Given the description of an element on the screen output the (x, y) to click on. 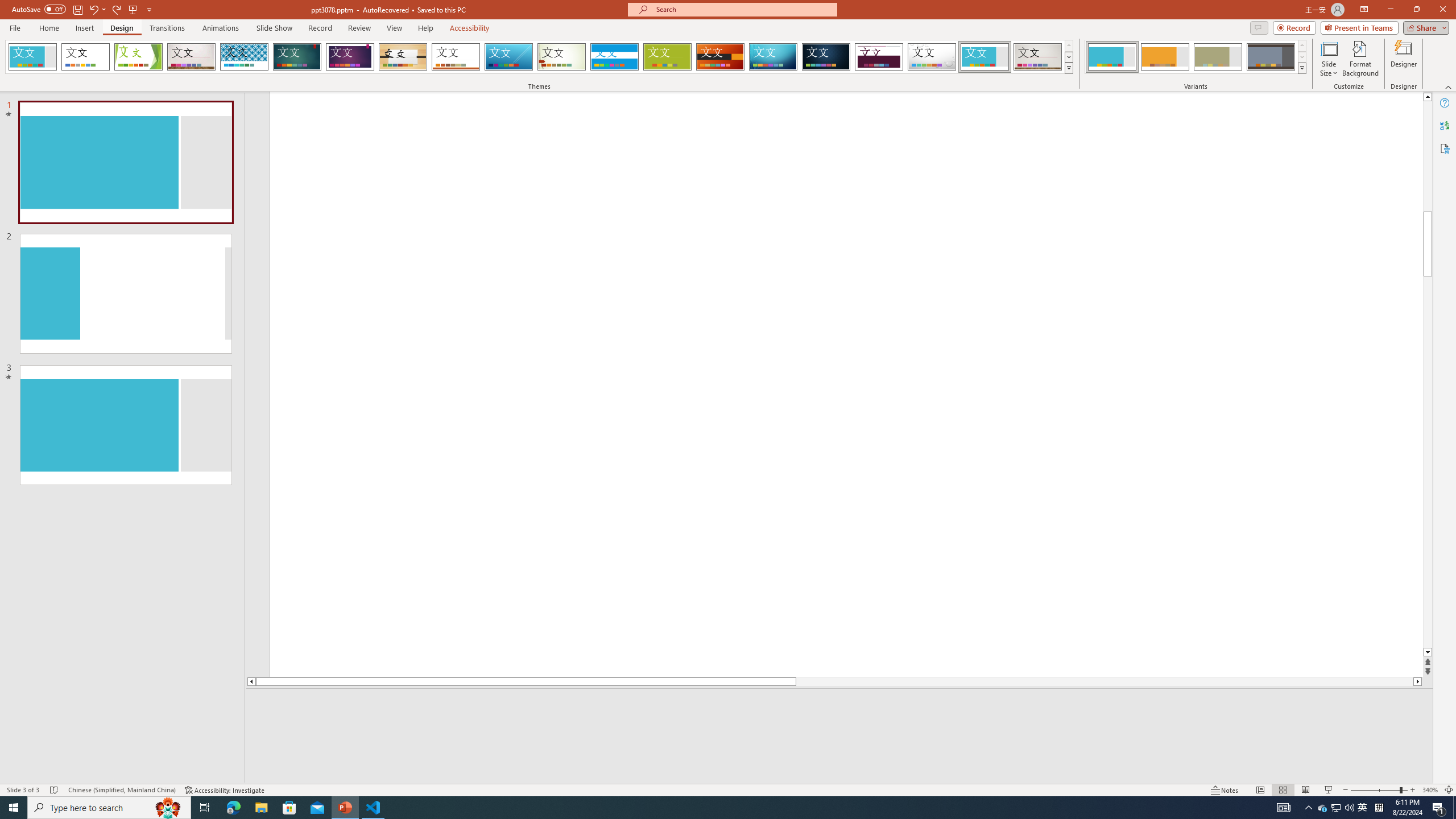
Frame Variant 2 (1164, 56)
Frame Variant 3 (1217, 56)
Frame Variant 1 (1112, 56)
Berlin (720, 56)
